Given the description of an element on the screen output the (x, y) to click on. 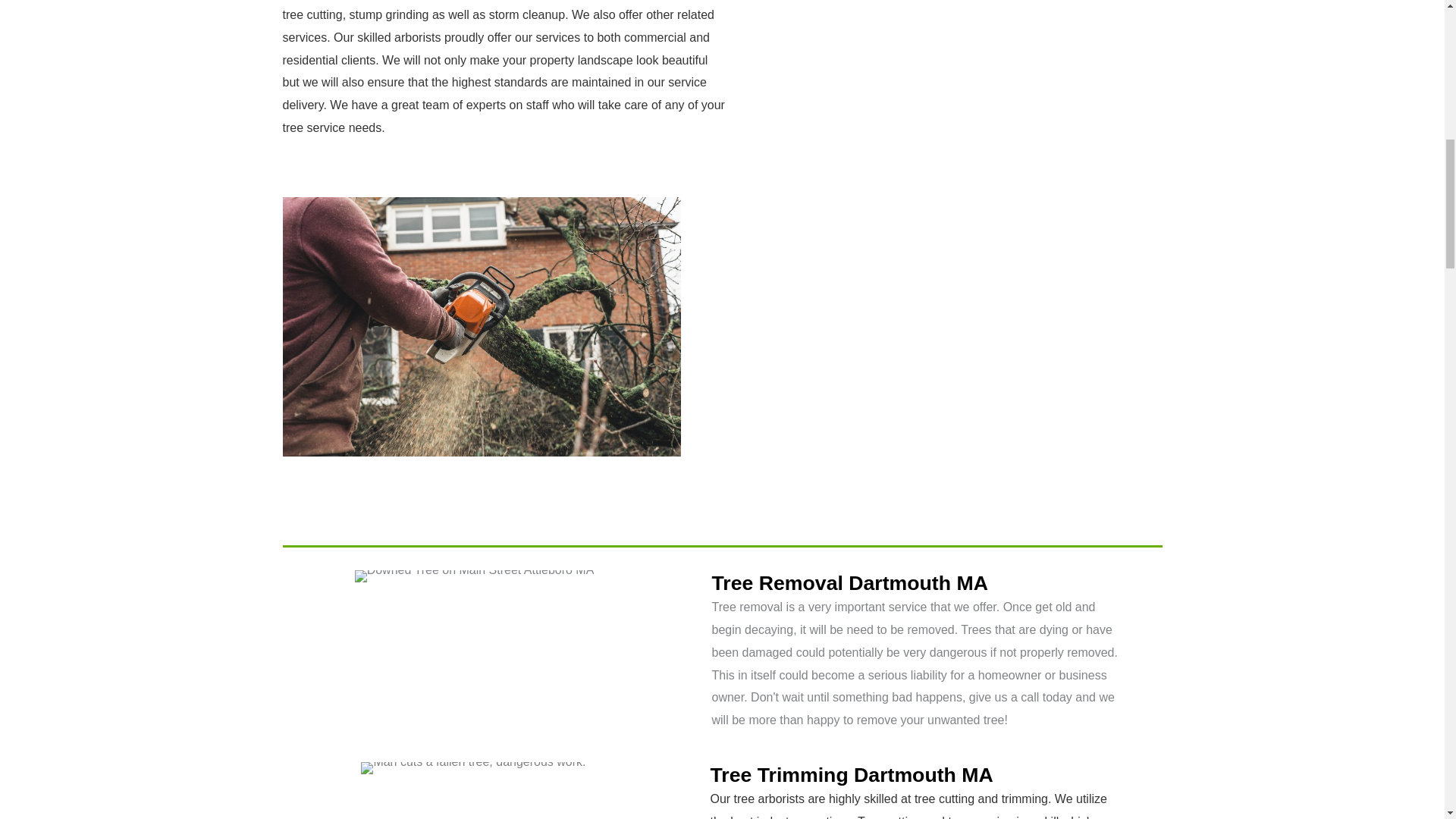
wpforms-submit (812, 238)
cutting tree branch that fell on house-min (480, 327)
Tree Trimming Dartmouth MA (851, 774)
Tree Removal Dartmouth MA (849, 582)
